Given the description of an element on the screen output the (x, y) to click on. 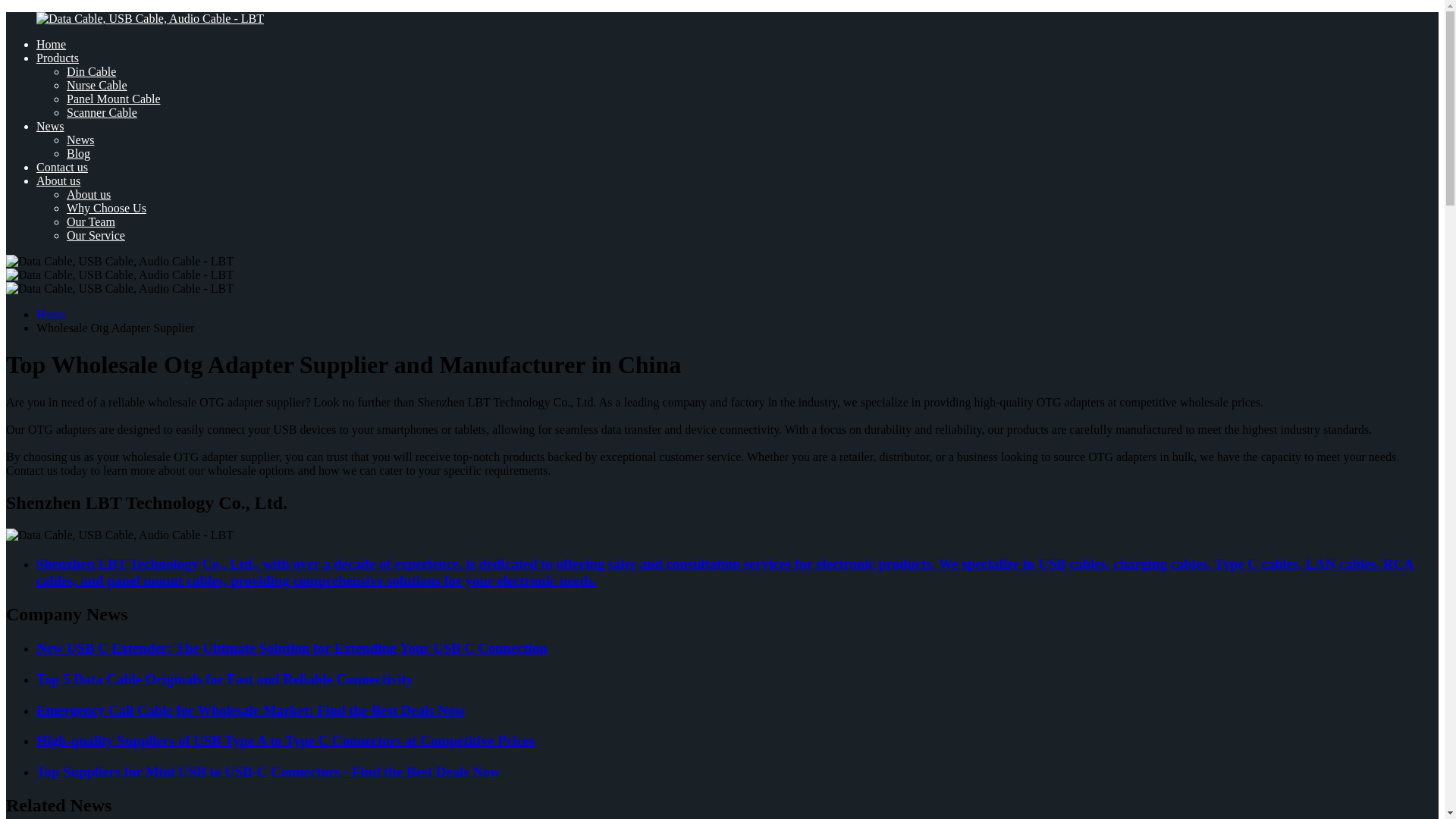
Home (50, 314)
Panel Mount Cable (113, 98)
About us (88, 194)
News (50, 125)
Our Team (90, 221)
Home (50, 43)
Products (57, 57)
Din Cable (91, 71)
Why Choose Us (106, 207)
Our Service (95, 235)
News (80, 139)
Contact us (61, 166)
Scanner Cable (101, 112)
Blog (78, 153)
Nurse Cable (97, 84)
